Given the description of an element on the screen output the (x, y) to click on. 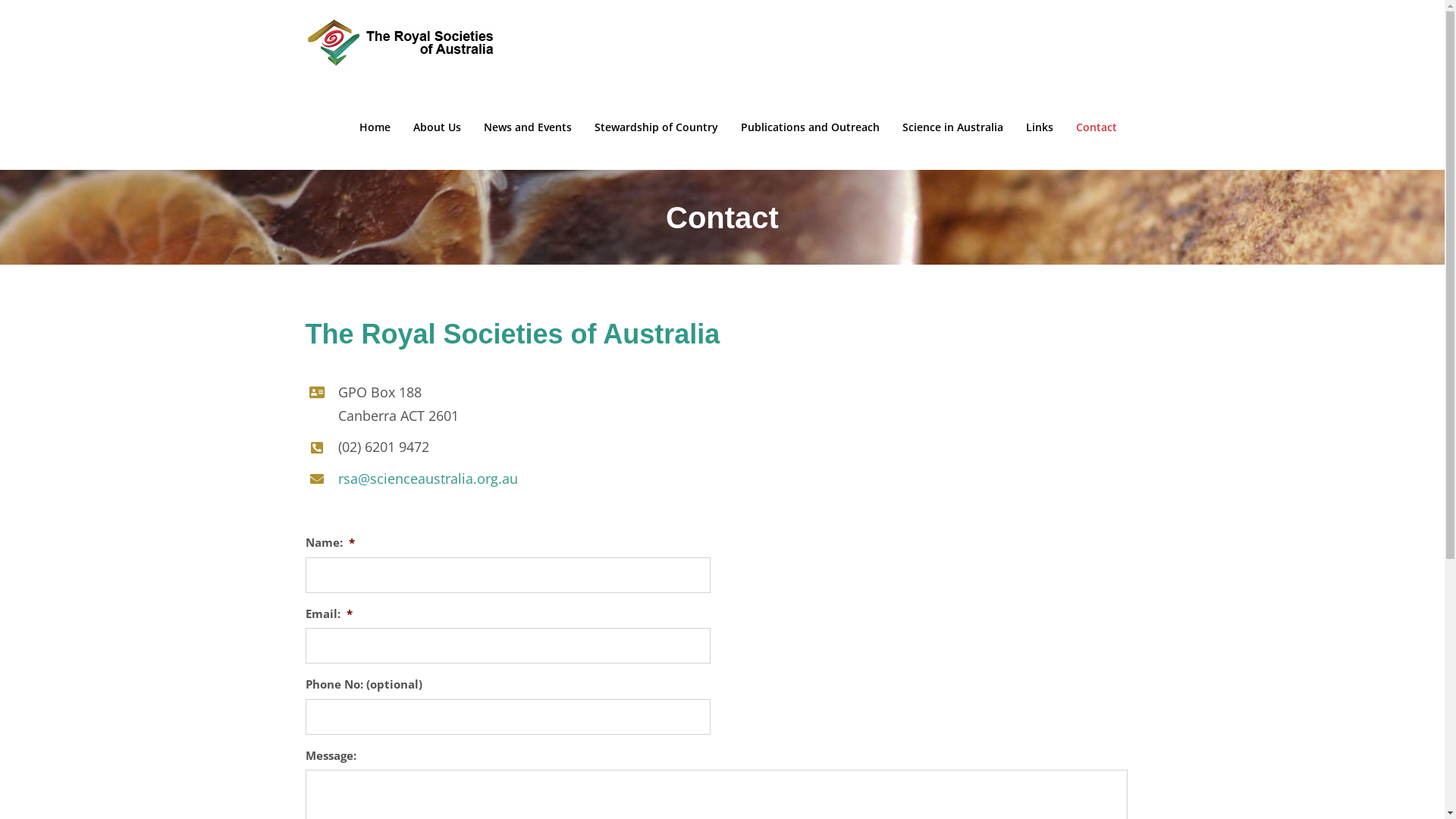
Home Element type: text (374, 126)
Stewardship of Country Element type: text (656, 126)
About Us Element type: text (436, 126)
Publications and Outreach Element type: text (809, 126)
rsa@scienceaustralia.org.au Element type: text (427, 478)
Links Element type: text (1038, 126)
Contact Element type: text (1095, 126)
Science in Australia Element type: text (952, 126)
News and Events Element type: text (527, 126)
